Given the description of an element on the screen output the (x, y) to click on. 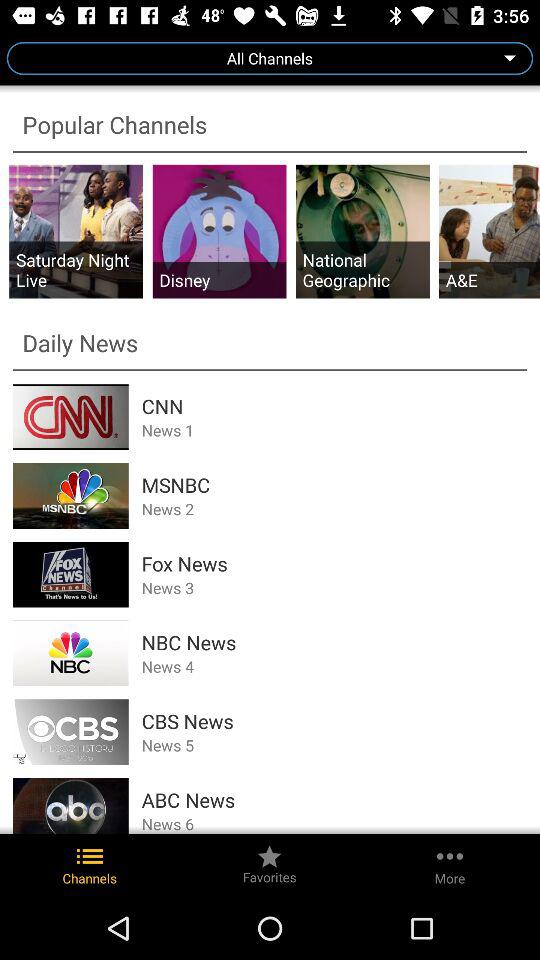
click the app above the news 5 icon (333, 721)
